Given the description of an element on the screen output the (x, y) to click on. 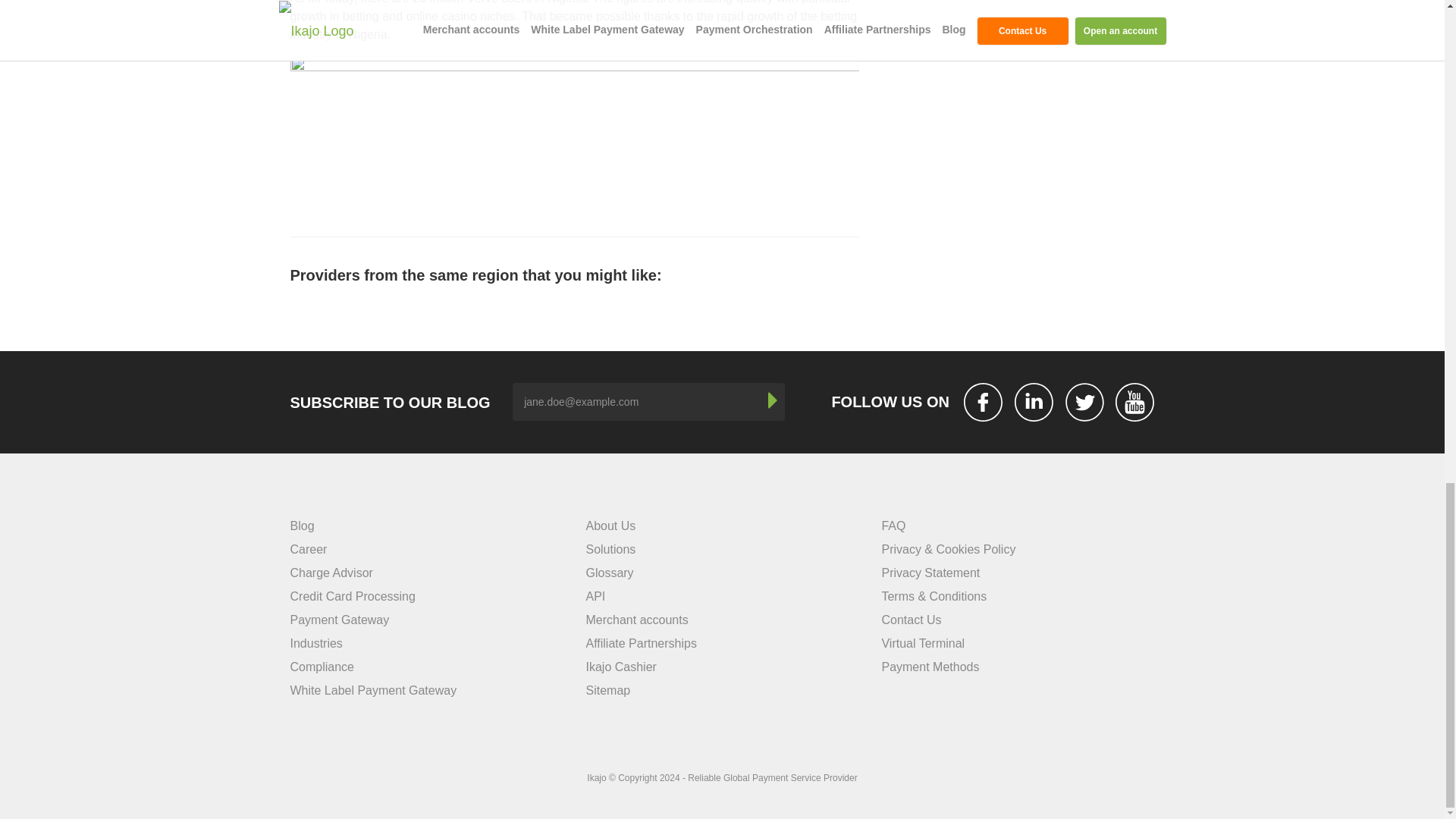
Ikajo Cashier (620, 666)
Compliance (321, 666)
facebook (983, 402)
API (595, 595)
Charge Advisor (330, 572)
Credit Card Processing (351, 595)
Solutions (609, 549)
twitter (1084, 402)
White Label Payment Gateway (373, 689)
About Us (609, 525)
